Given the description of an element on the screen output the (x, y) to click on. 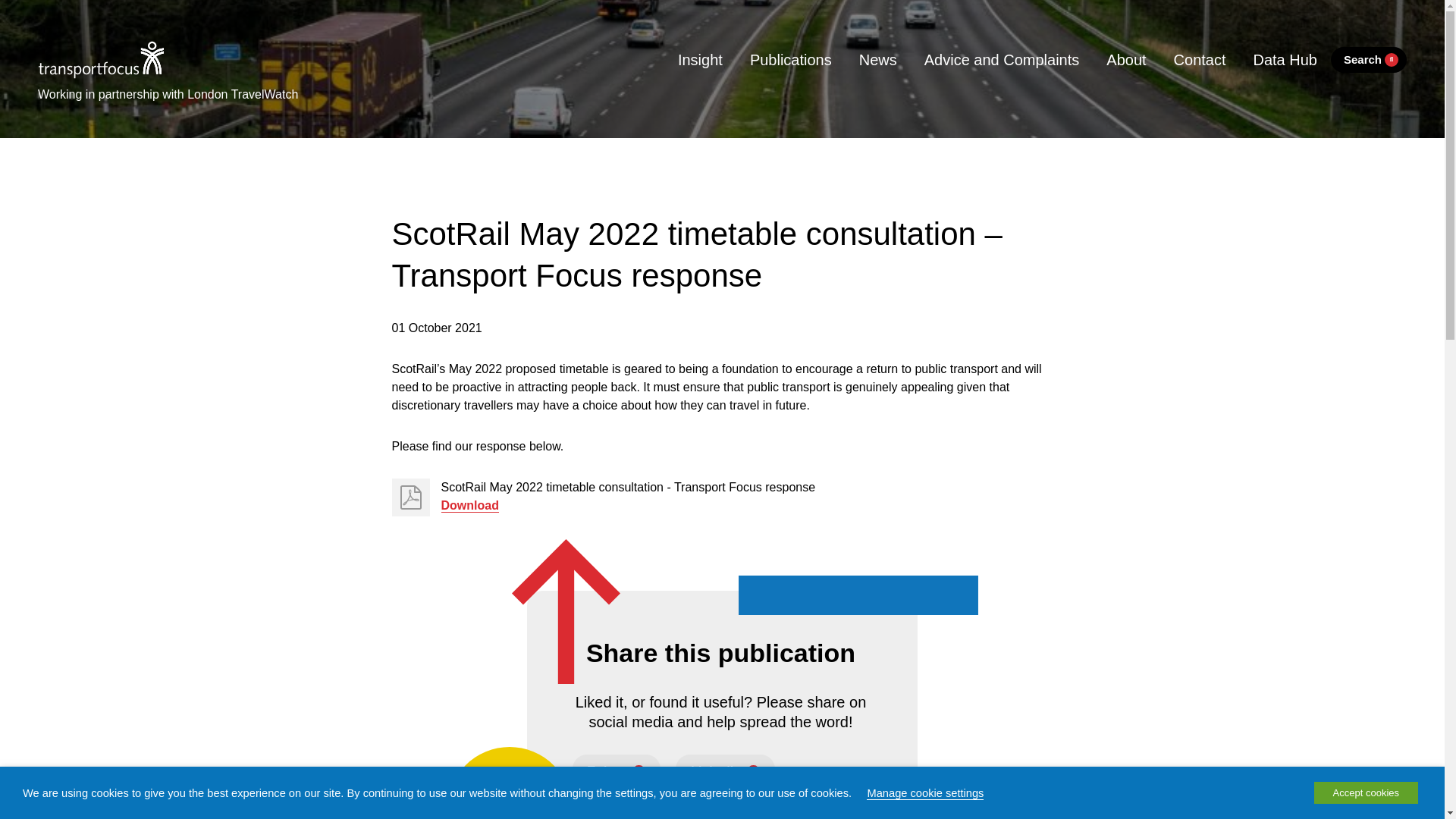
Contact (1200, 59)
Search (1368, 59)
Data Hub (1284, 59)
Twitter (616, 770)
About (1125, 59)
Insight (699, 59)
Download (470, 505)
News (878, 59)
Working in partnership with London TravelWatch (167, 91)
LinkedIn (724, 770)
